Given the description of an element on the screen output the (x, y) to click on. 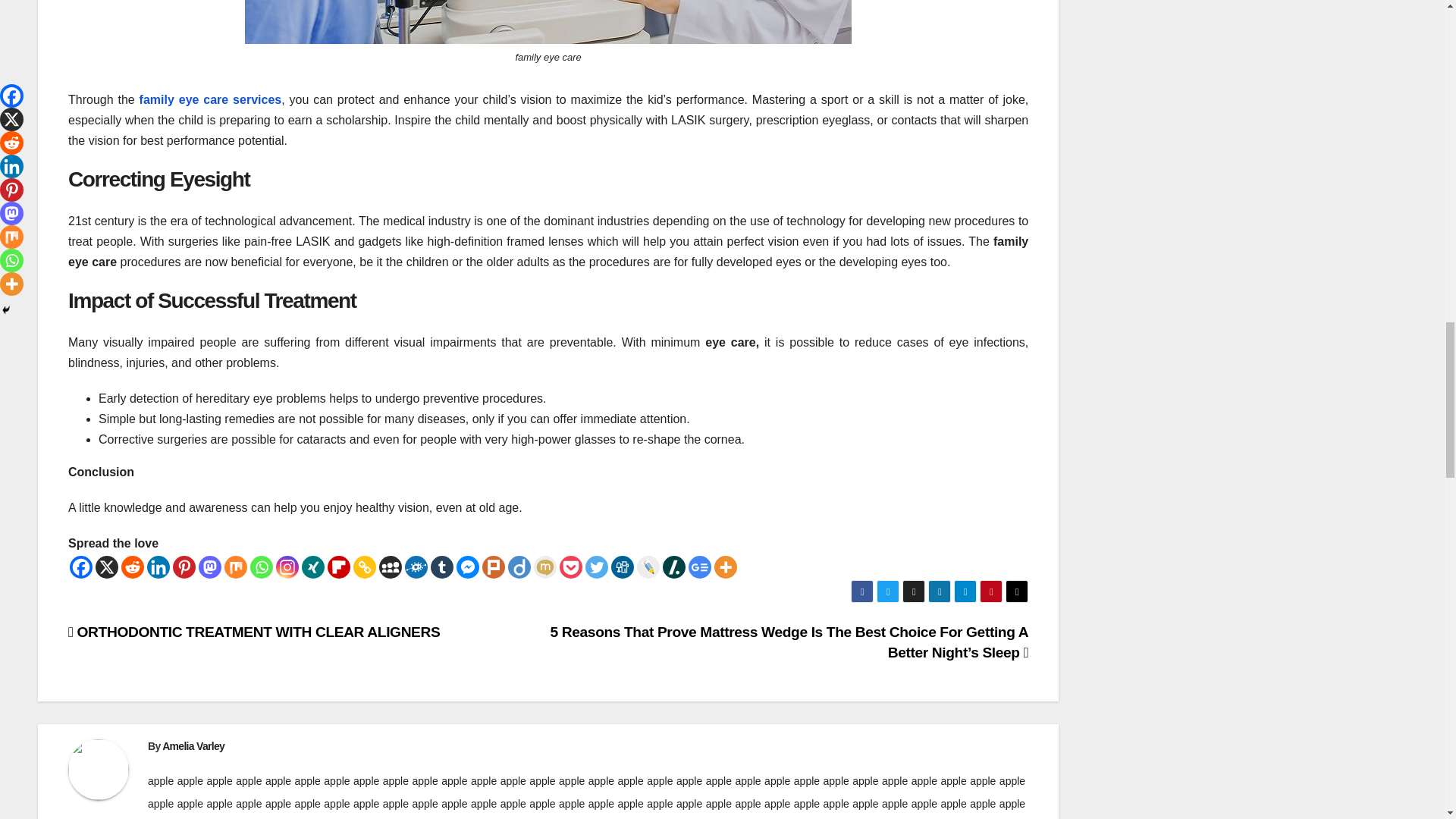
Linkedin (158, 567)
Facebook (81, 567)
Pinterest (184, 567)
X (106, 567)
Mix (235, 567)
family eye care services (210, 99)
Instagram (287, 567)
Reddit (132, 567)
Mastodon (209, 567)
Whatsapp (261, 567)
xing (312, 567)
